Given the description of an element on the screen output the (x, y) to click on. 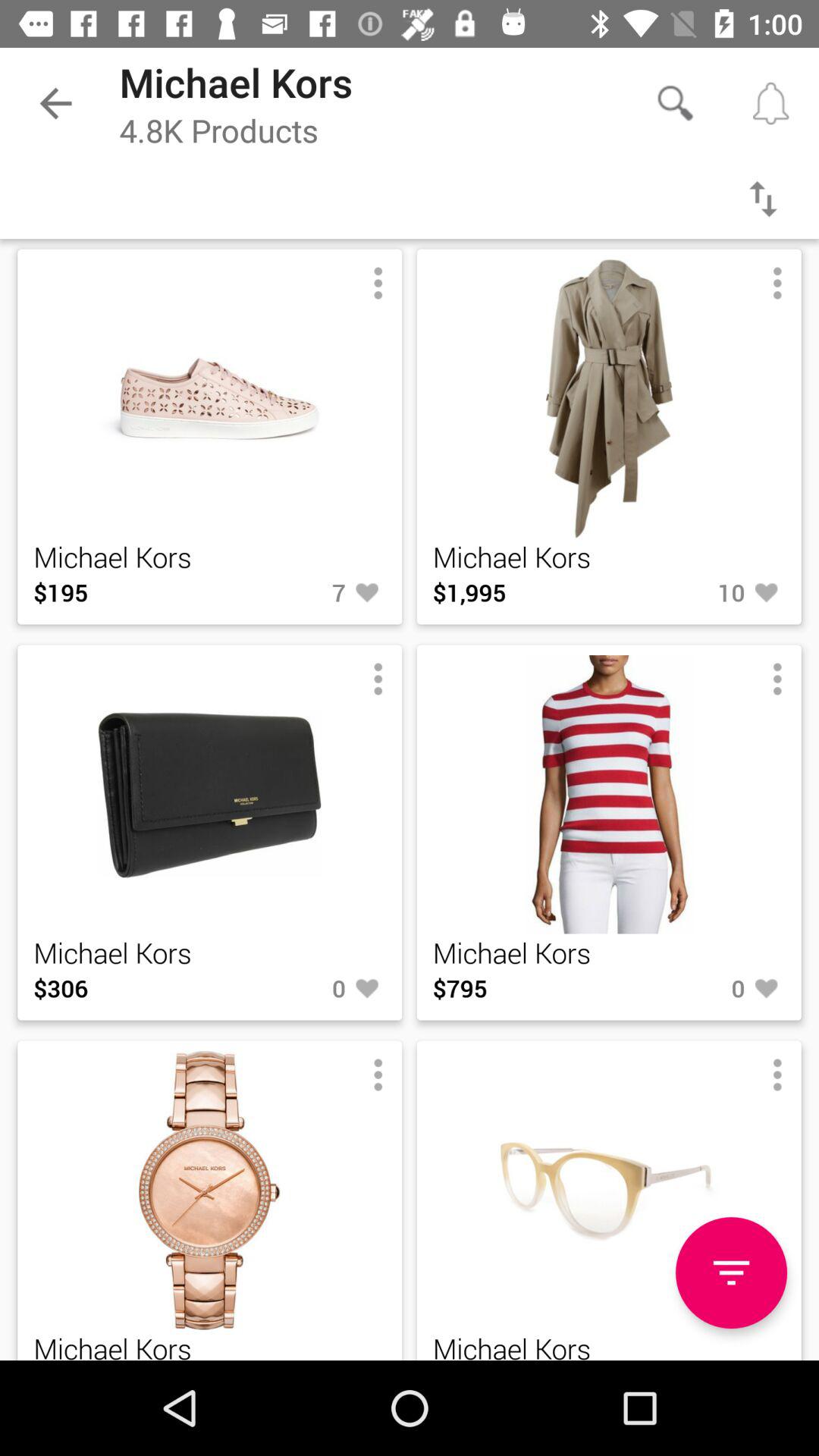
click 10 item (697, 592)
